Given the description of an element on the screen output the (x, y) to click on. 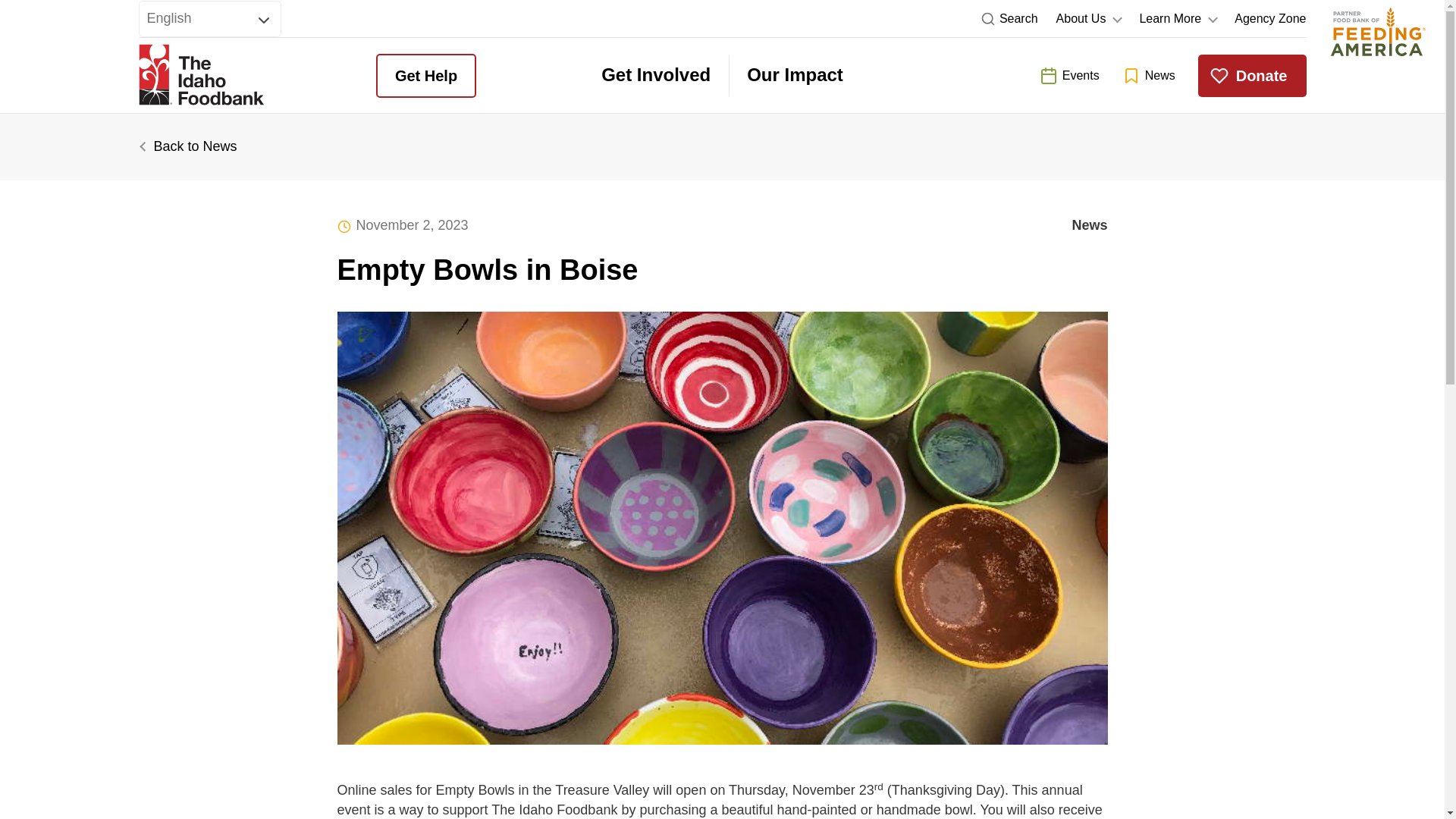
Our Impact (794, 75)
Learn More (1176, 18)
Get Help (425, 75)
About Us (1089, 18)
Go to Home page (200, 75)
Get Involved (655, 75)
Search (1008, 18)
Agency Zone (1270, 18)
